Given the description of an element on the screen output the (x, y) to click on. 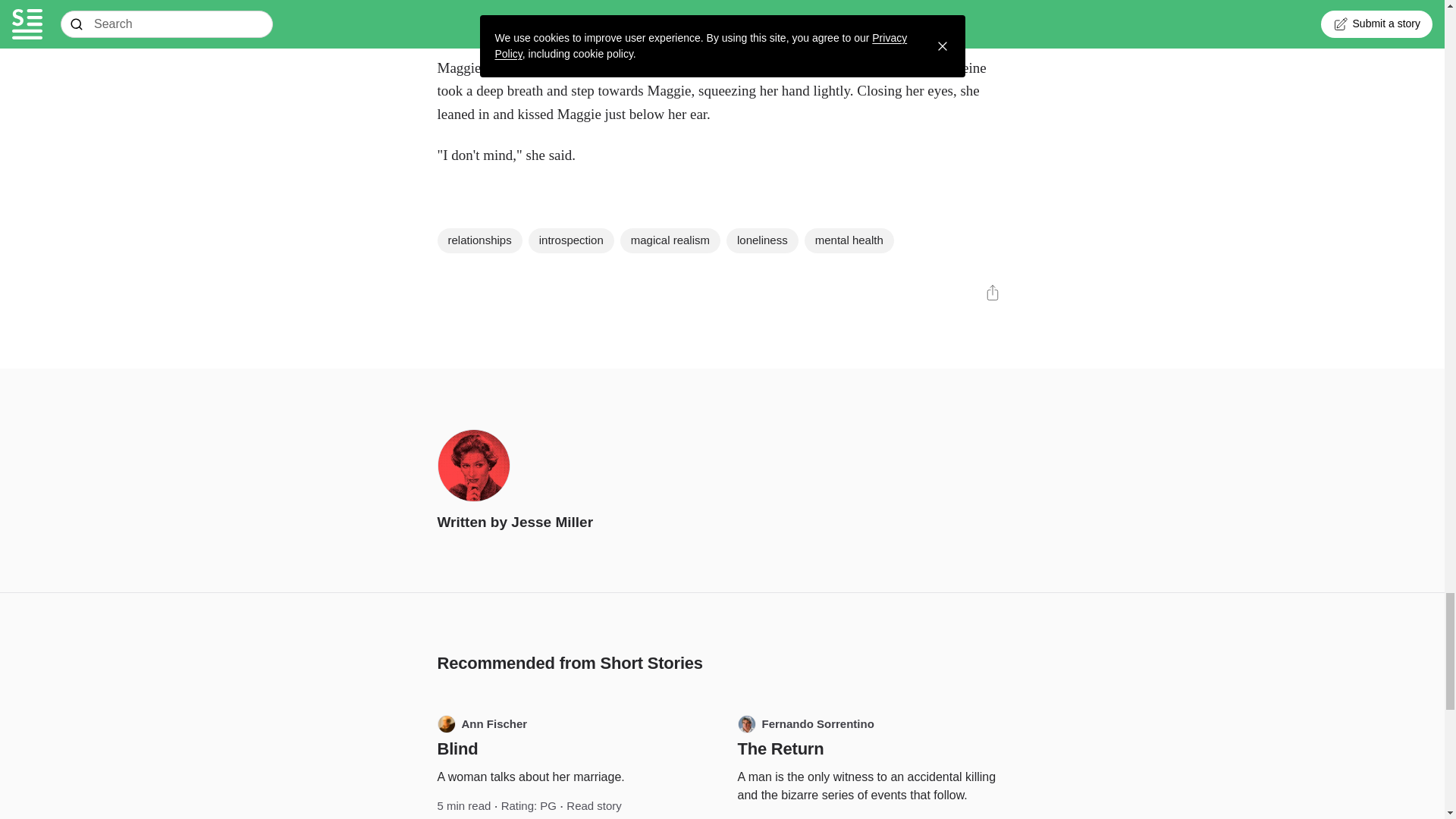
The Return (780, 748)
Read story (911, 817)
Fernando Sorrentino (804, 723)
introspection (571, 240)
Blind (456, 748)
magical realism (670, 240)
5 min read (463, 805)
Ann Fischer (481, 723)
mental health (849, 240)
Read story (593, 805)
